Given the description of an element on the screen output the (x, y) to click on. 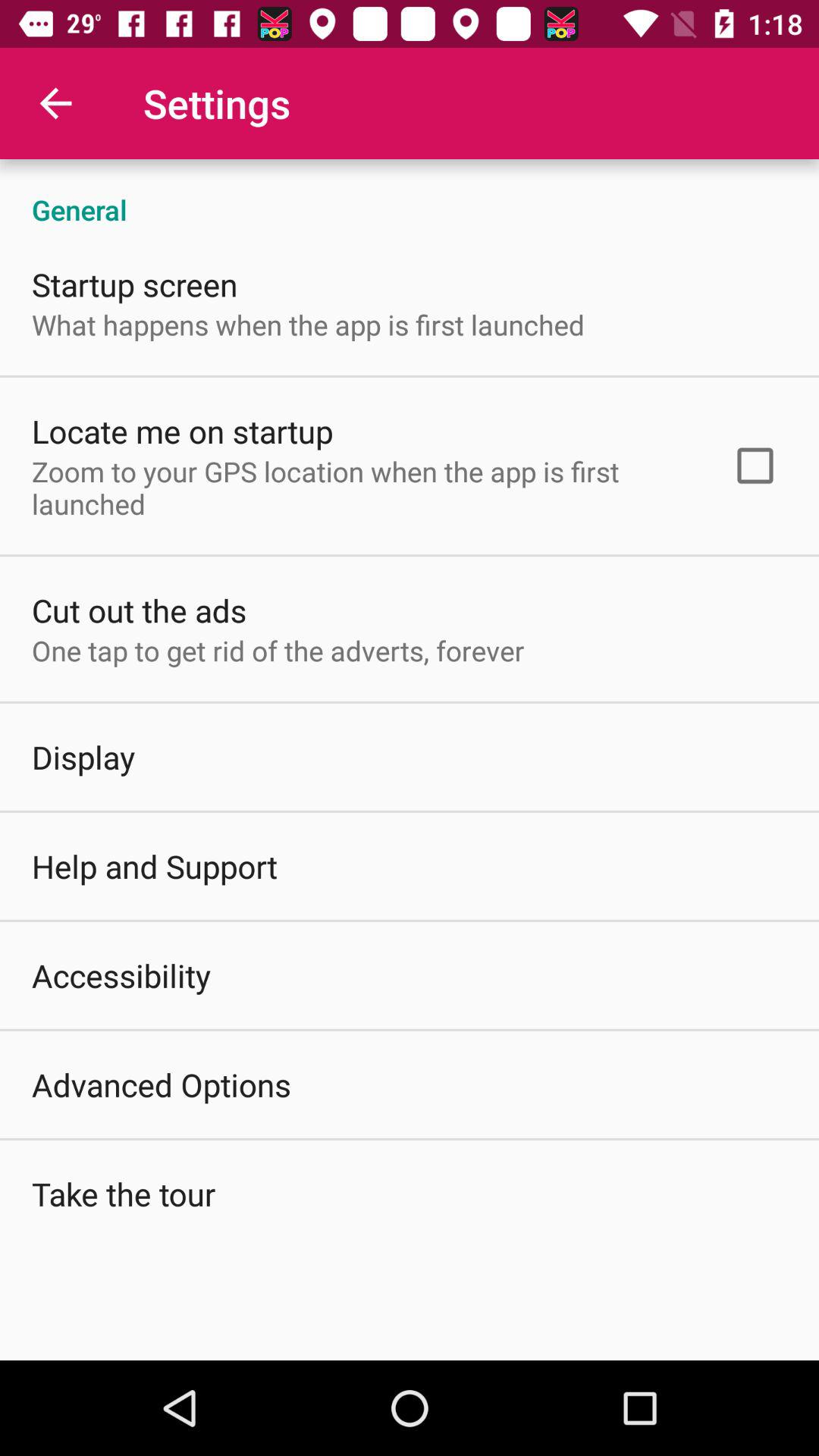
open item above cut out the icon (361, 487)
